Given the description of an element on the screen output the (x, y) to click on. 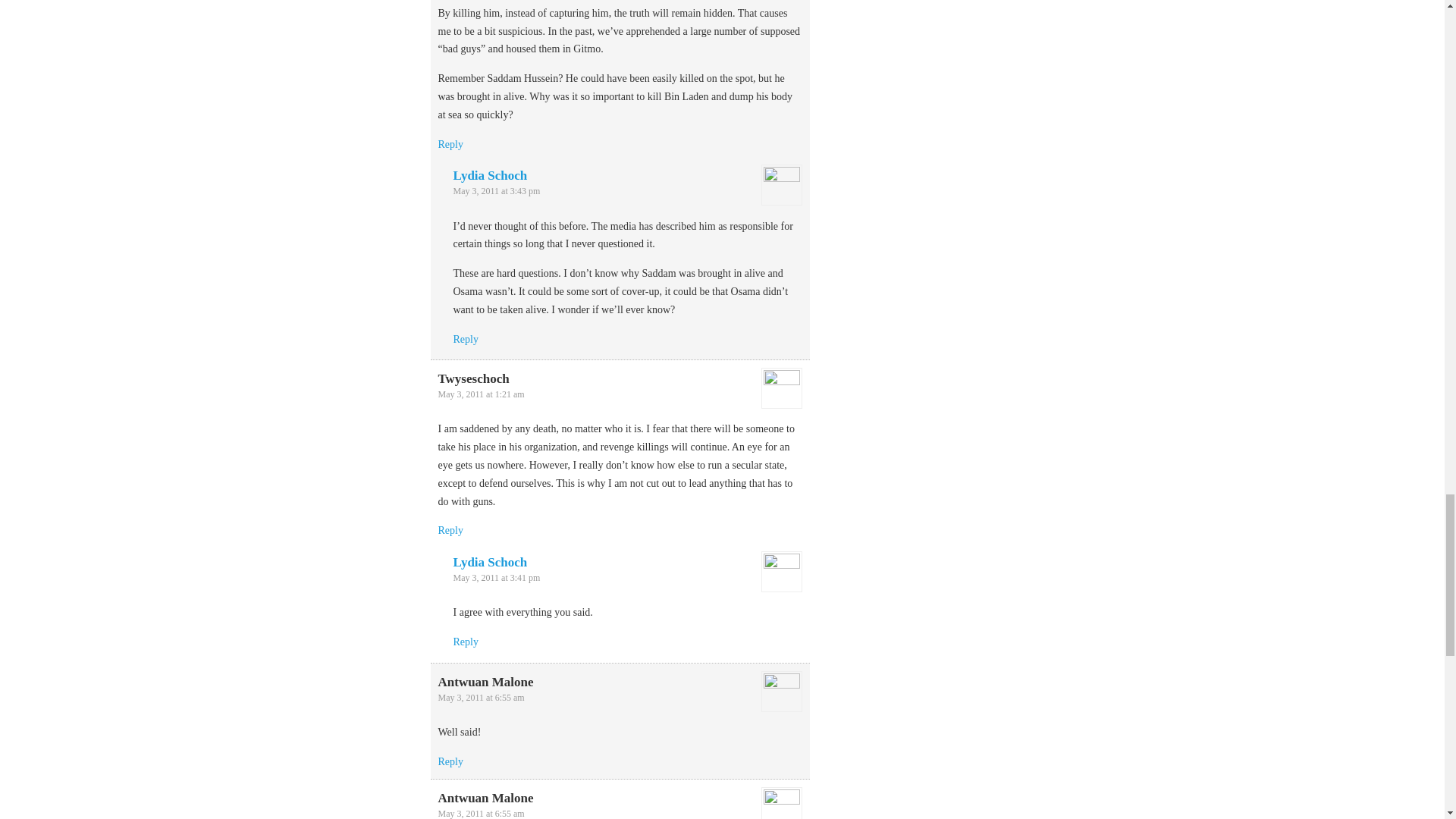
Reply (450, 143)
